Given the description of an element on the screen output the (x, y) to click on. 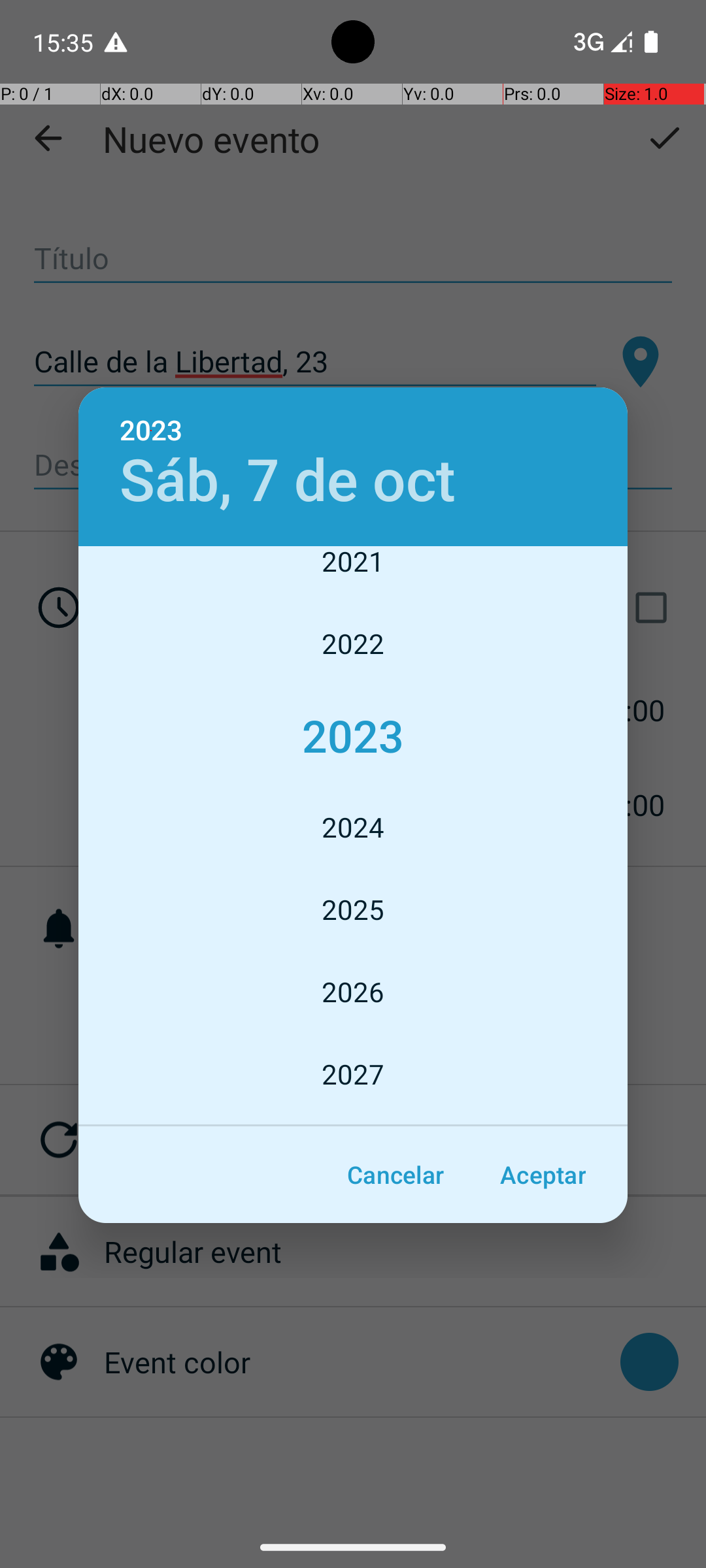
Sáb, 7 de oct Element type: android.widget.TextView (287, 480)
2021 Element type: android.widget.TextView (352, 574)
2025 Element type: android.widget.TextView (352, 909)
2026 Element type: android.widget.TextView (352, 991)
2027 Element type: android.widget.TextView (352, 1073)
2028 Element type: android.widget.TextView (352, 1120)
